Given the description of an element on the screen output the (x, y) to click on. 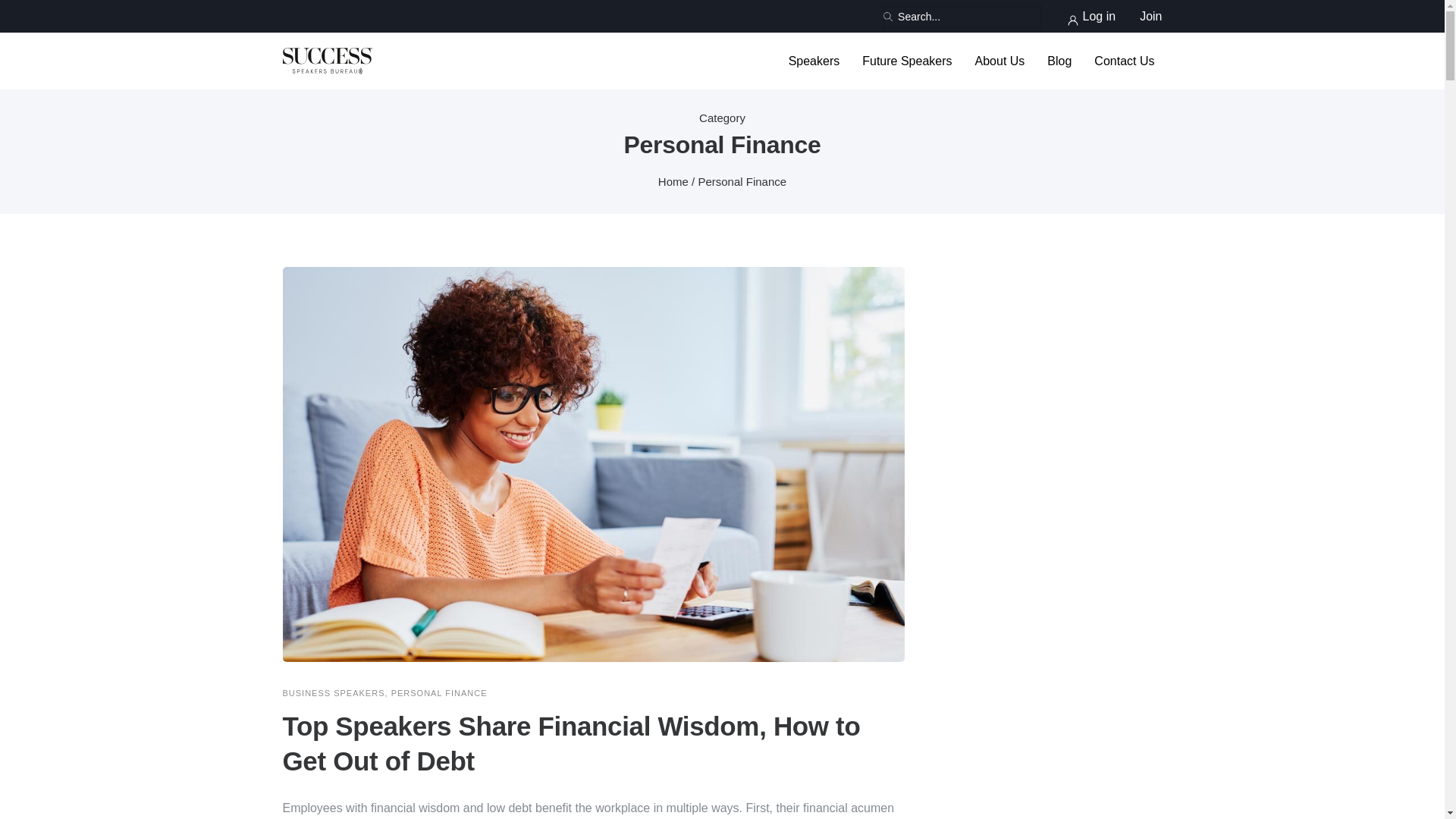
Top Speakers Share Financial Wisdom, How to Get Out of Debt (593, 743)
PERSONAL FINANCE (439, 693)
Speakers (813, 60)
Blog (1058, 60)
Home (673, 181)
BUSINESS SPEAKERS (333, 693)
Contact Us (1123, 60)
Blog (1058, 60)
Future Speakers (906, 60)
About Us (1000, 60)
Contact Us (1123, 60)
Speakers (813, 60)
Future Speakers (906, 60)
Log in (1091, 16)
About Us (1000, 60)
